Given the description of an element on the screen output the (x, y) to click on. 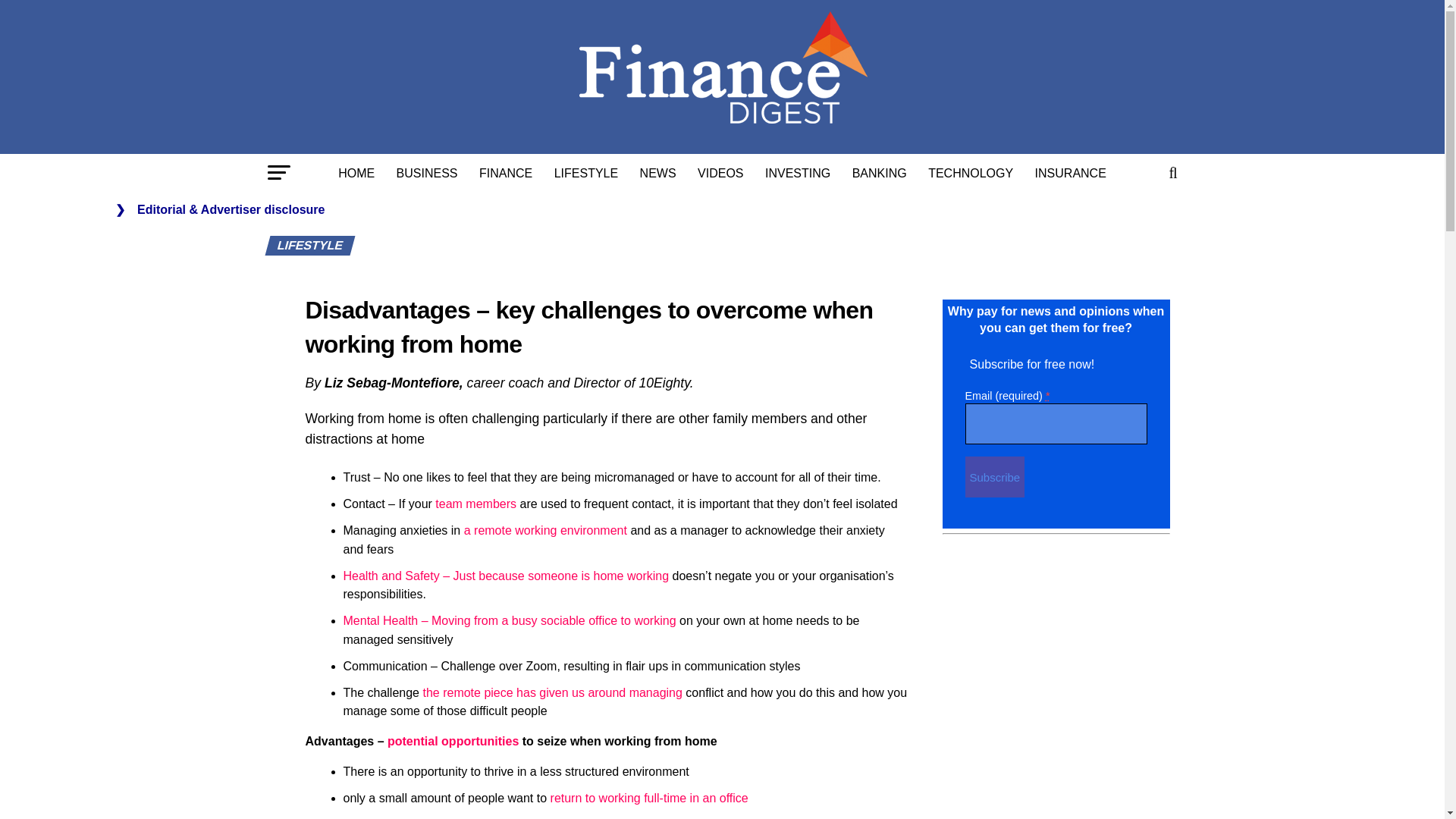
NEWS (657, 173)
FINANCE (505, 173)
News (657, 173)
Lifestyle (585, 173)
BUSINESS (427, 173)
Business (427, 173)
Home (356, 173)
Subscribe (994, 476)
HOME (356, 173)
LIFESTYLE (585, 173)
Finance (505, 173)
VIDEOS (720, 173)
